Given the description of an element on the screen output the (x, y) to click on. 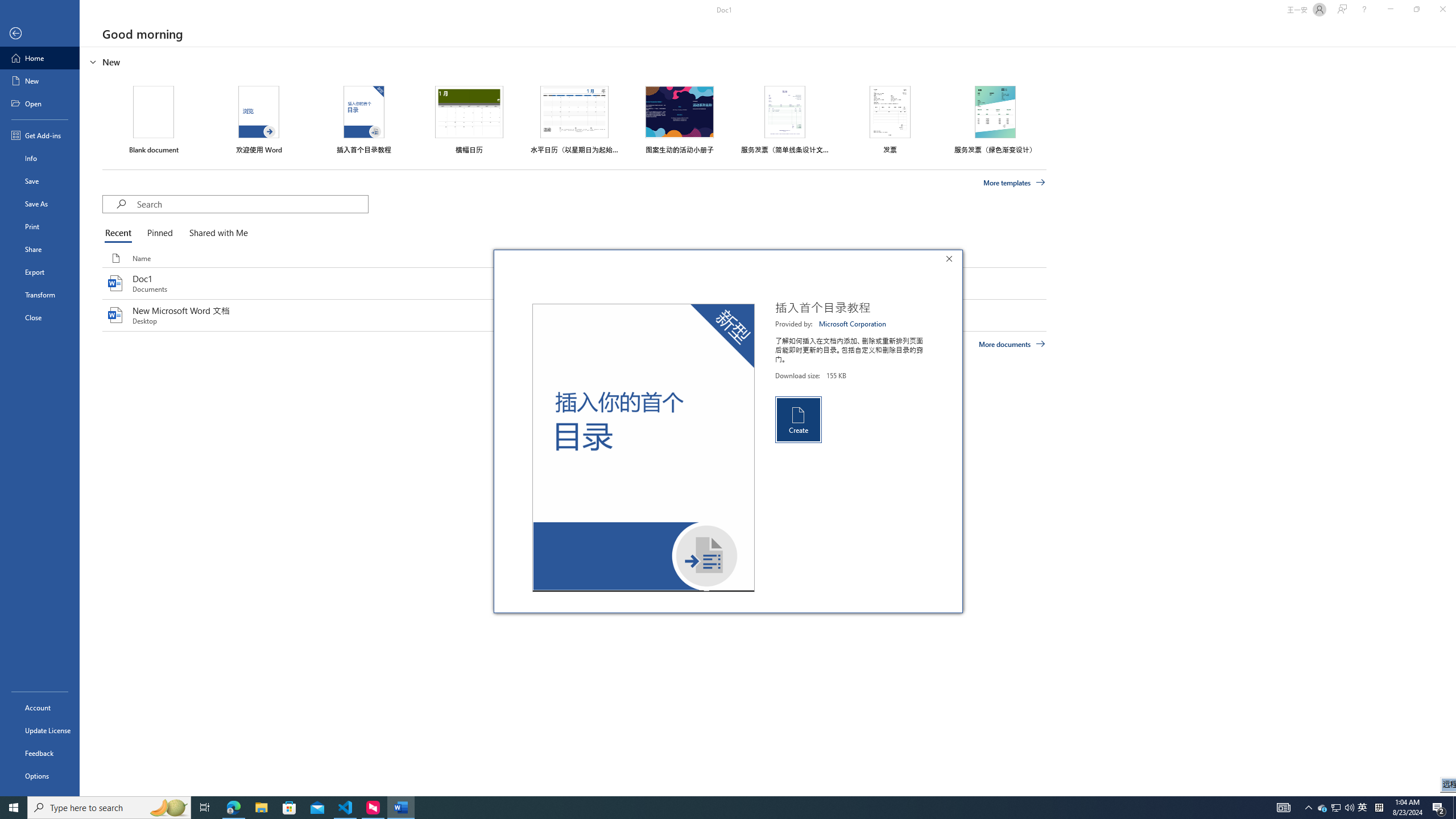
Class: NetUIScrollBar (1450, 421)
More documents (1011, 343)
Search highlights icon opens search home window (167, 807)
Print (40, 225)
Restore Down (1416, 9)
Blank document (153, 119)
Export (40, 271)
New (40, 80)
Running applications (700, 807)
Q2790: 100% (1349, 807)
Save (40, 180)
